Given the description of an element on the screen output the (x, y) to click on. 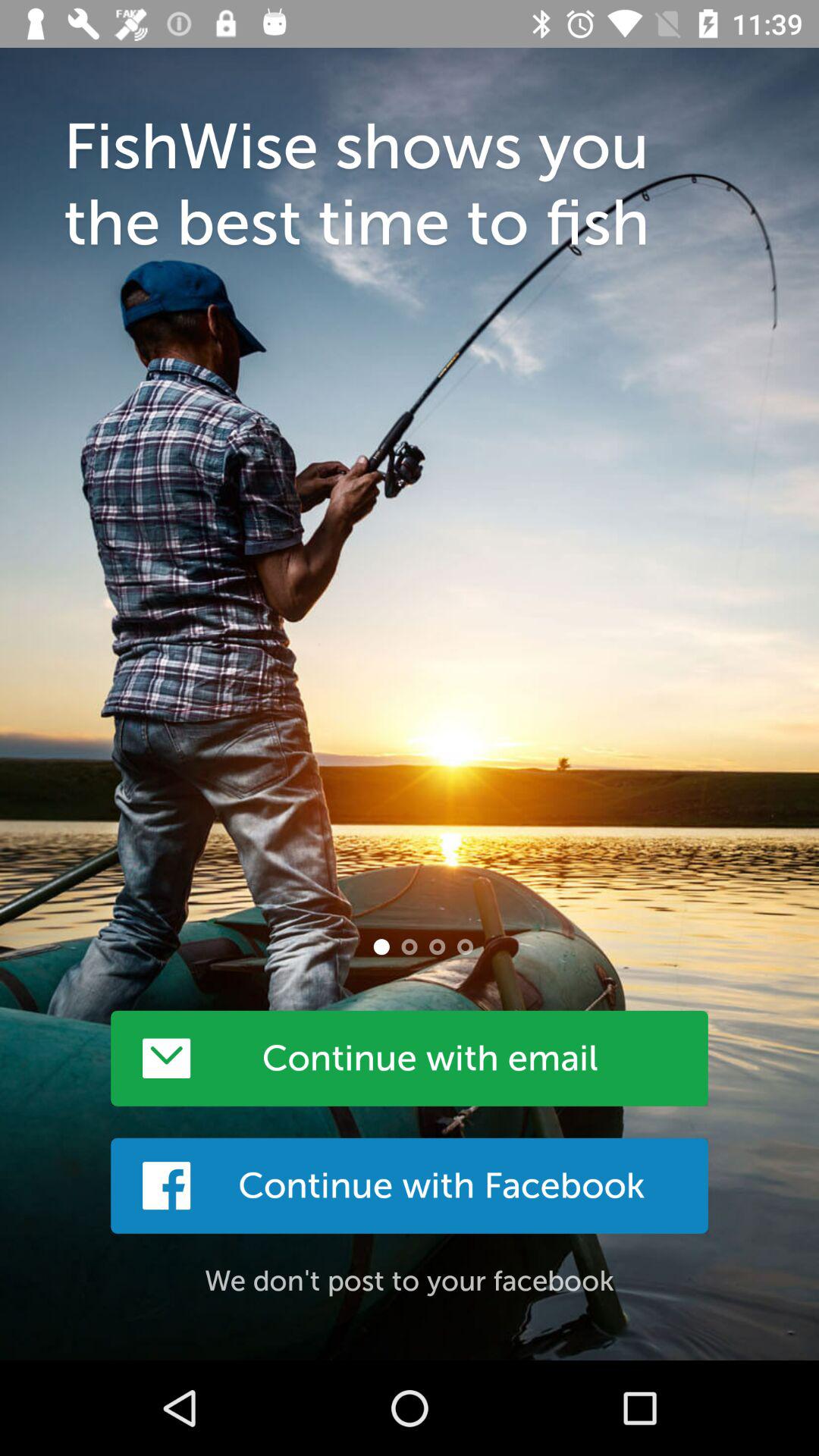
page navigation (465, 946)
